Given the description of an element on the screen output the (x, y) to click on. 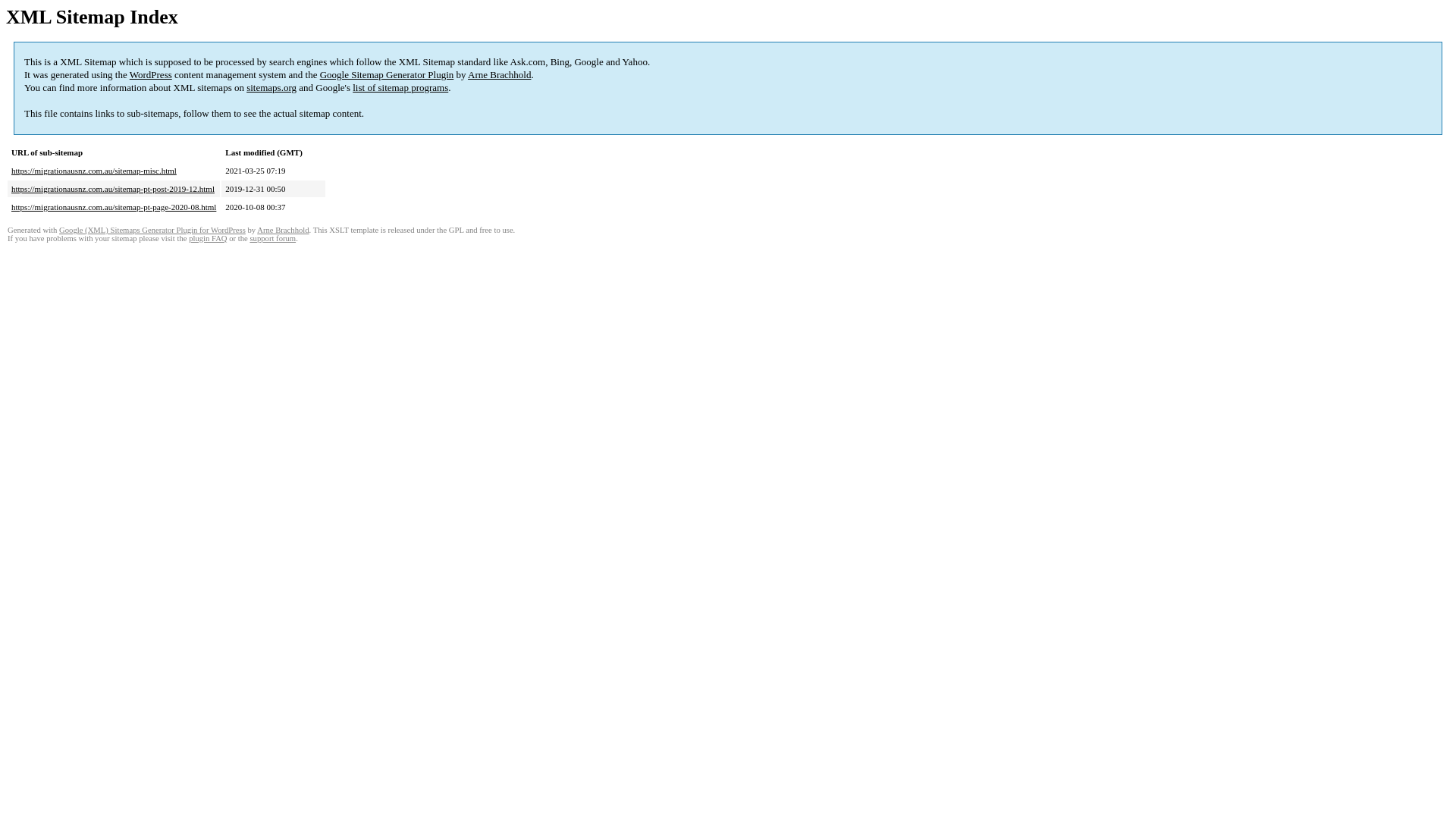
list of sitemap programs Element type: text (400, 87)
https://migrationausnz.com.au/sitemap-pt-post-2019-12.html Element type: text (112, 188)
plugin FAQ Element type: text (207, 238)
Arne Brachhold Element type: text (498, 74)
support forum Element type: text (272, 238)
https://migrationausnz.com.au/sitemap-misc.html Element type: text (93, 170)
Arne Brachhold Element type: text (282, 229)
WordPress Element type: text (150, 74)
Google (XML) Sitemaps Generator Plugin for WordPress Element type: text (152, 229)
https://migrationausnz.com.au/sitemap-pt-page-2020-08.html Element type: text (113, 206)
Google Sitemap Generator Plugin Element type: text (387, 74)
sitemaps.org Element type: text (271, 87)
